Given the description of an element on the screen output the (x, y) to click on. 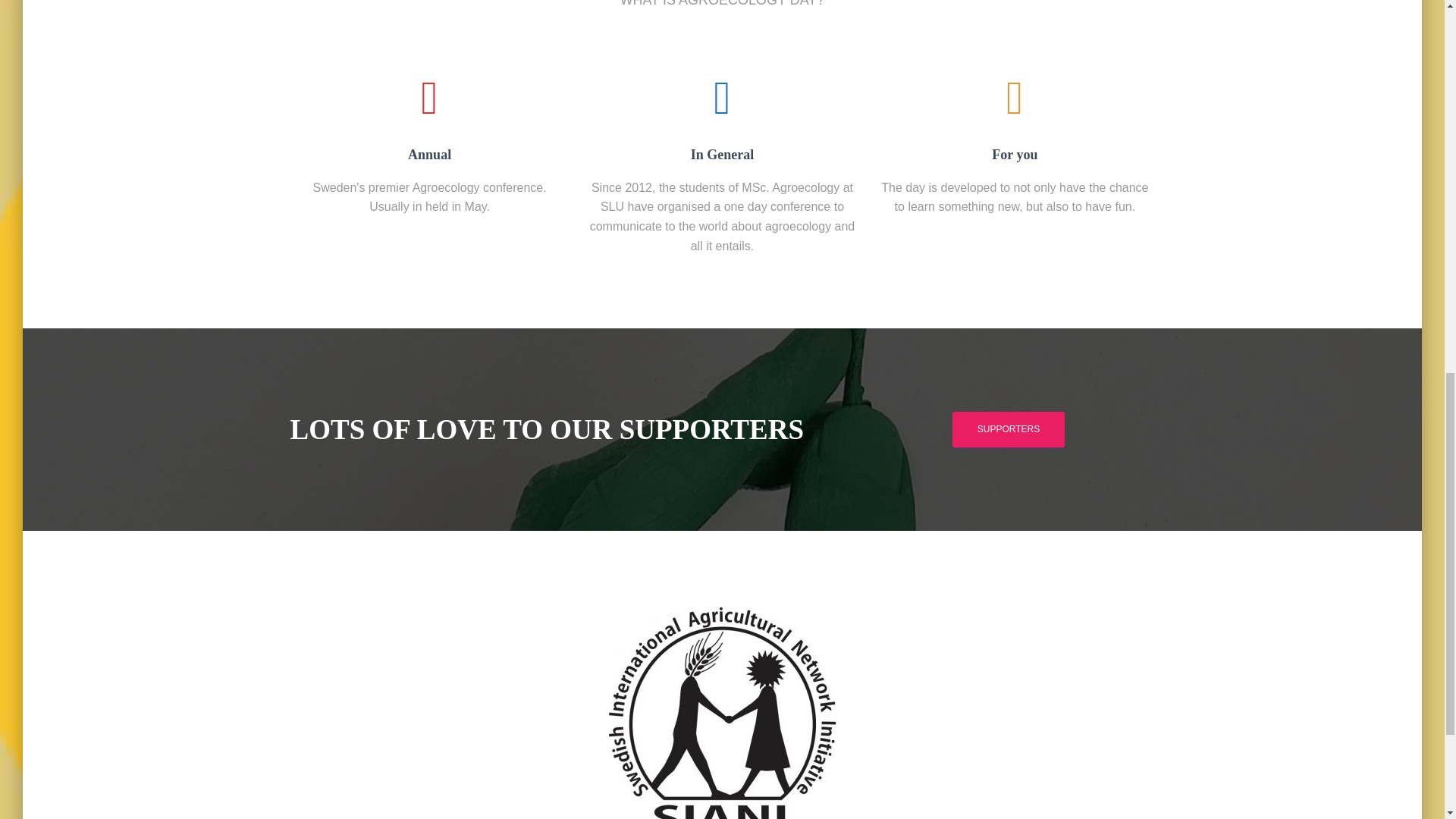
In General (722, 121)
Annual (430, 121)
SUPPORTERS (1008, 429)
